Given the description of an element on the screen output the (x, y) to click on. 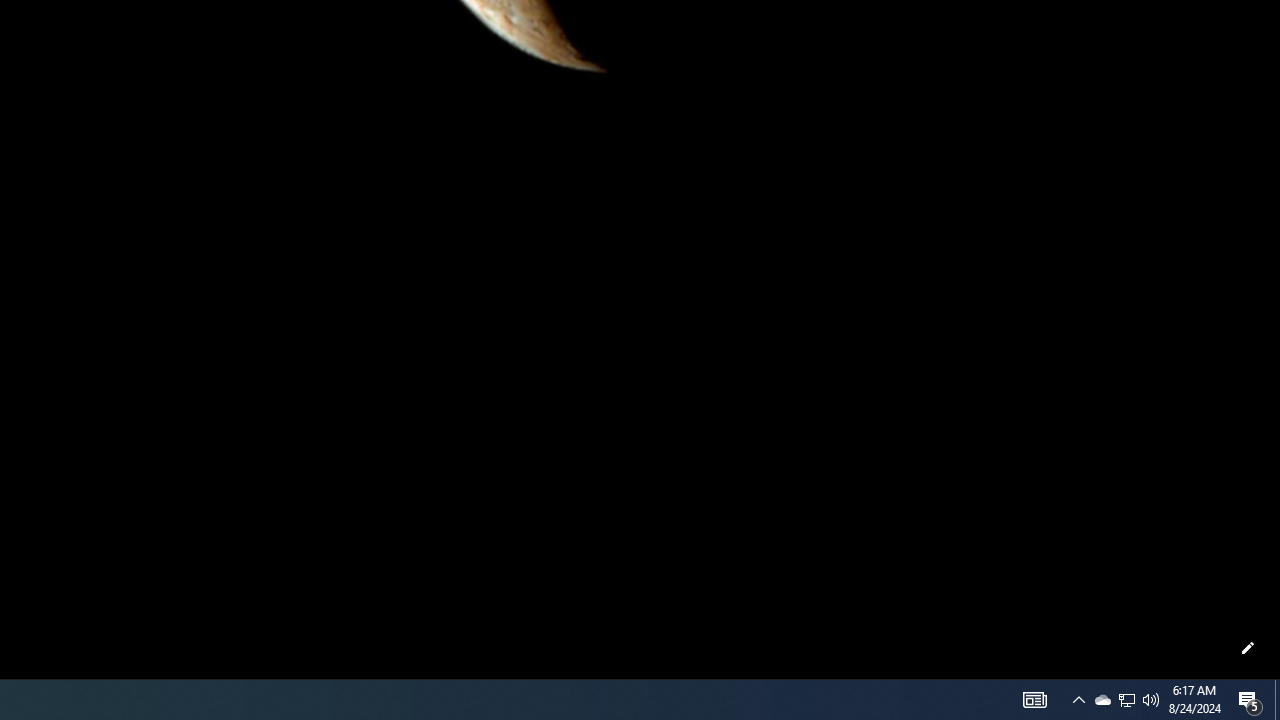
Customize this page (1247, 647)
